Given the description of an element on the screen output the (x, y) to click on. 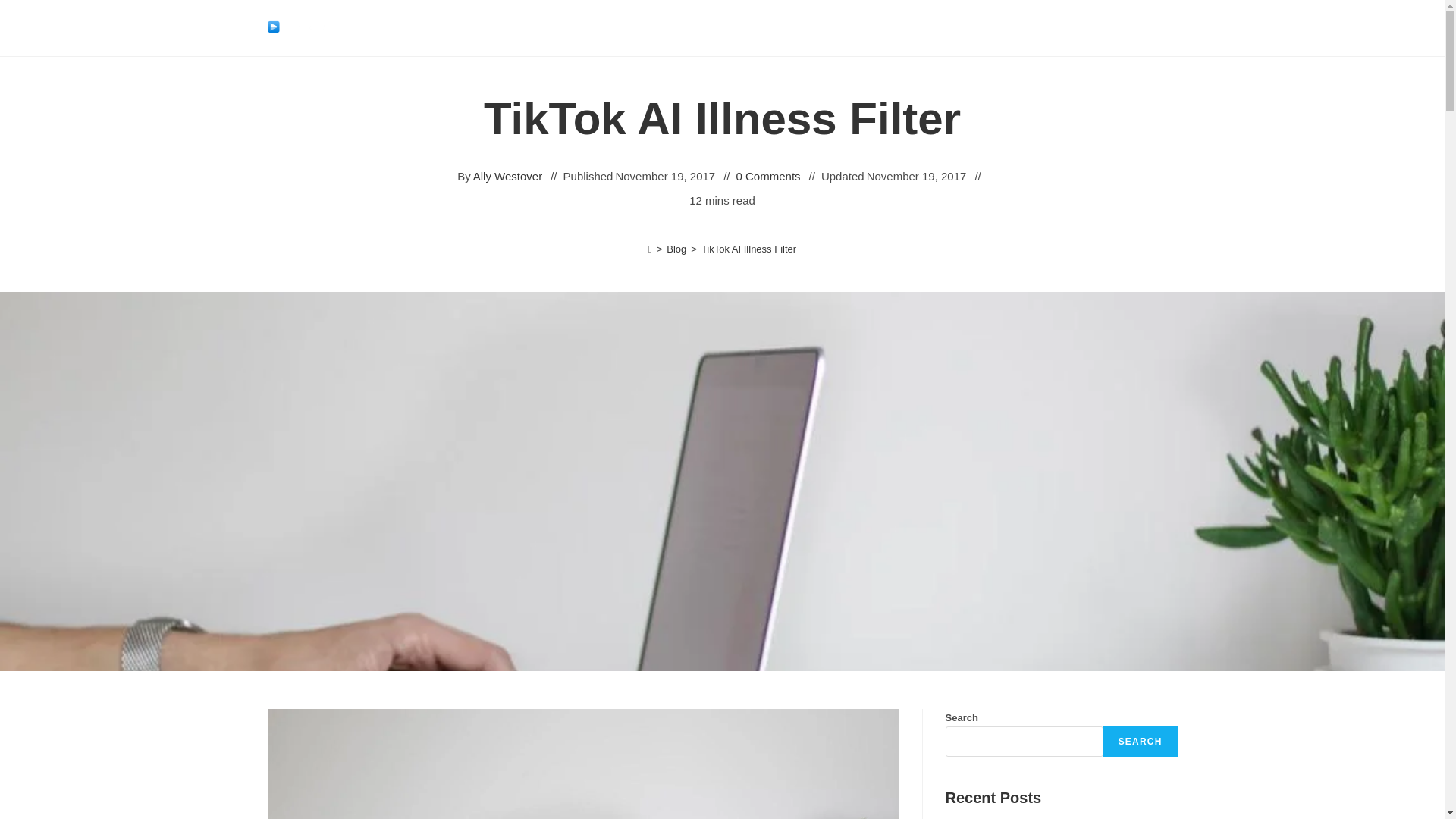
Ally Westover (507, 176)
TikTok AI Illness Filter (748, 248)
Blog (675, 248)
0 Comments (768, 176)
